Given the description of an element on the screen output the (x, y) to click on. 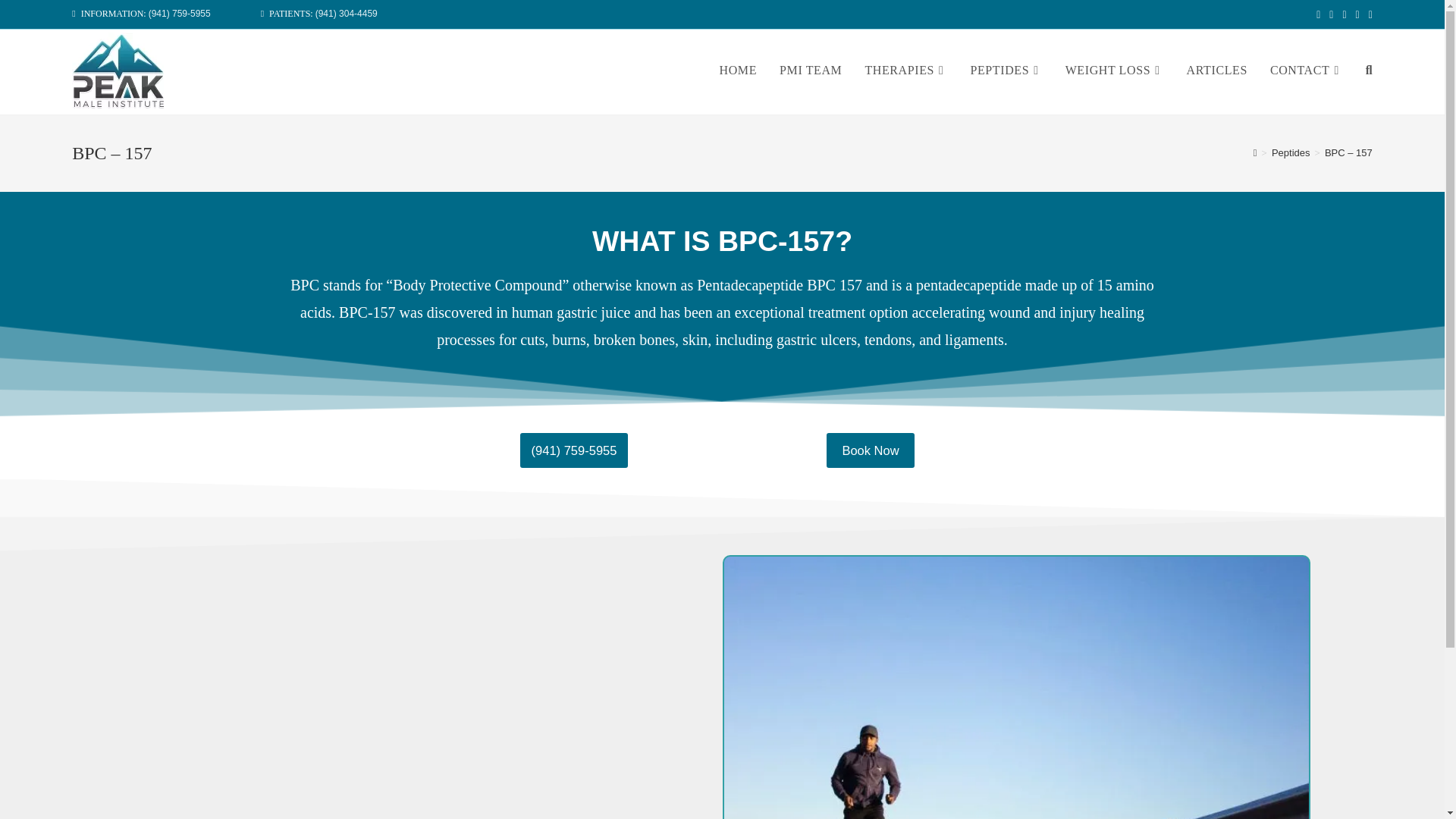
PEPTIDES (1005, 70)
ARTICLES (1216, 70)
THERAPIES (905, 70)
CONTACT (1306, 70)
WEIGHT LOSS (1114, 70)
PMI TEAM (810, 70)
